Given the description of an element on the screen output the (x, y) to click on. 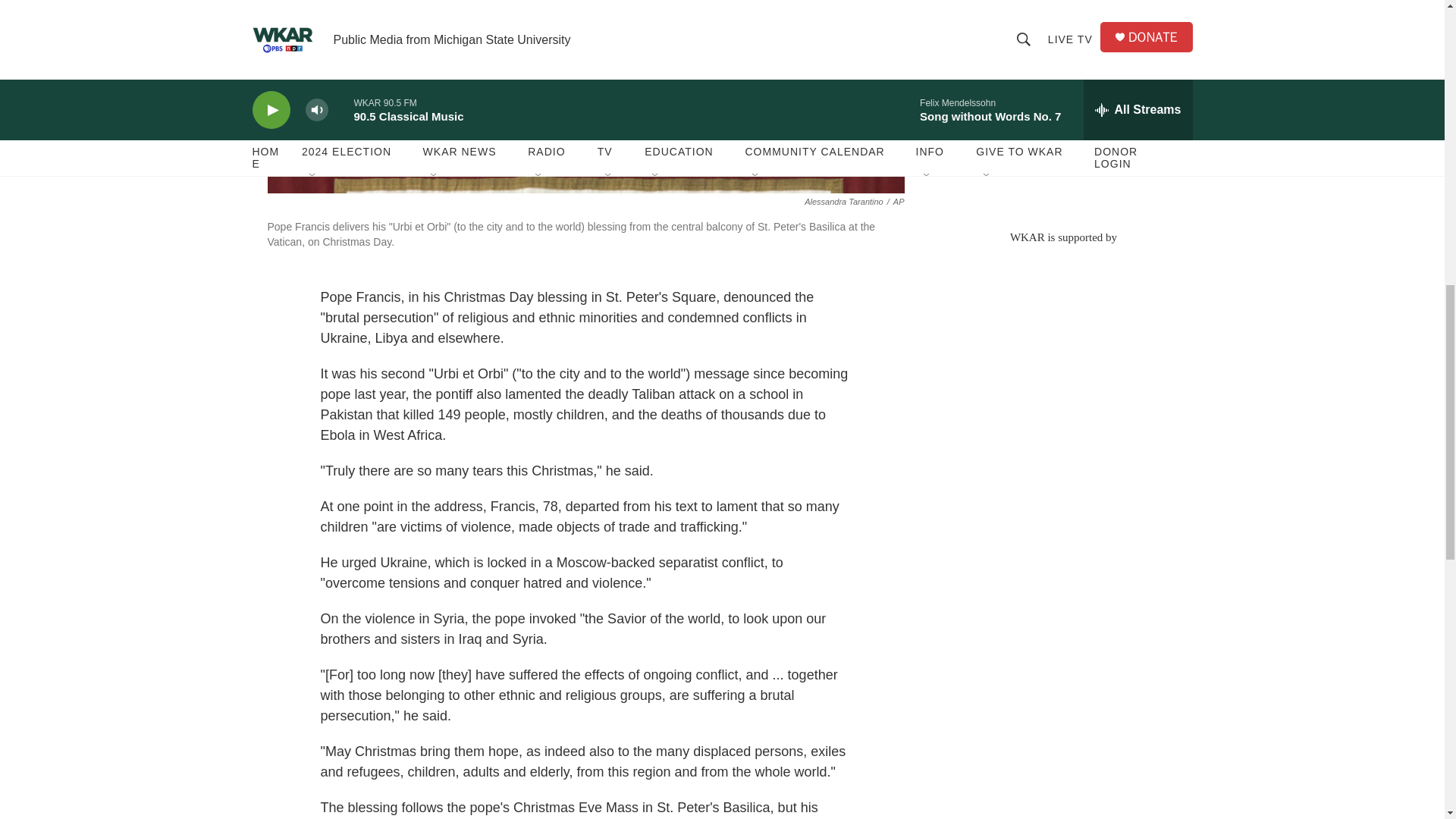
3rd party ad content (1062, 353)
3rd party ad content (1062, 105)
